Given the description of an element on the screen output the (x, y) to click on. 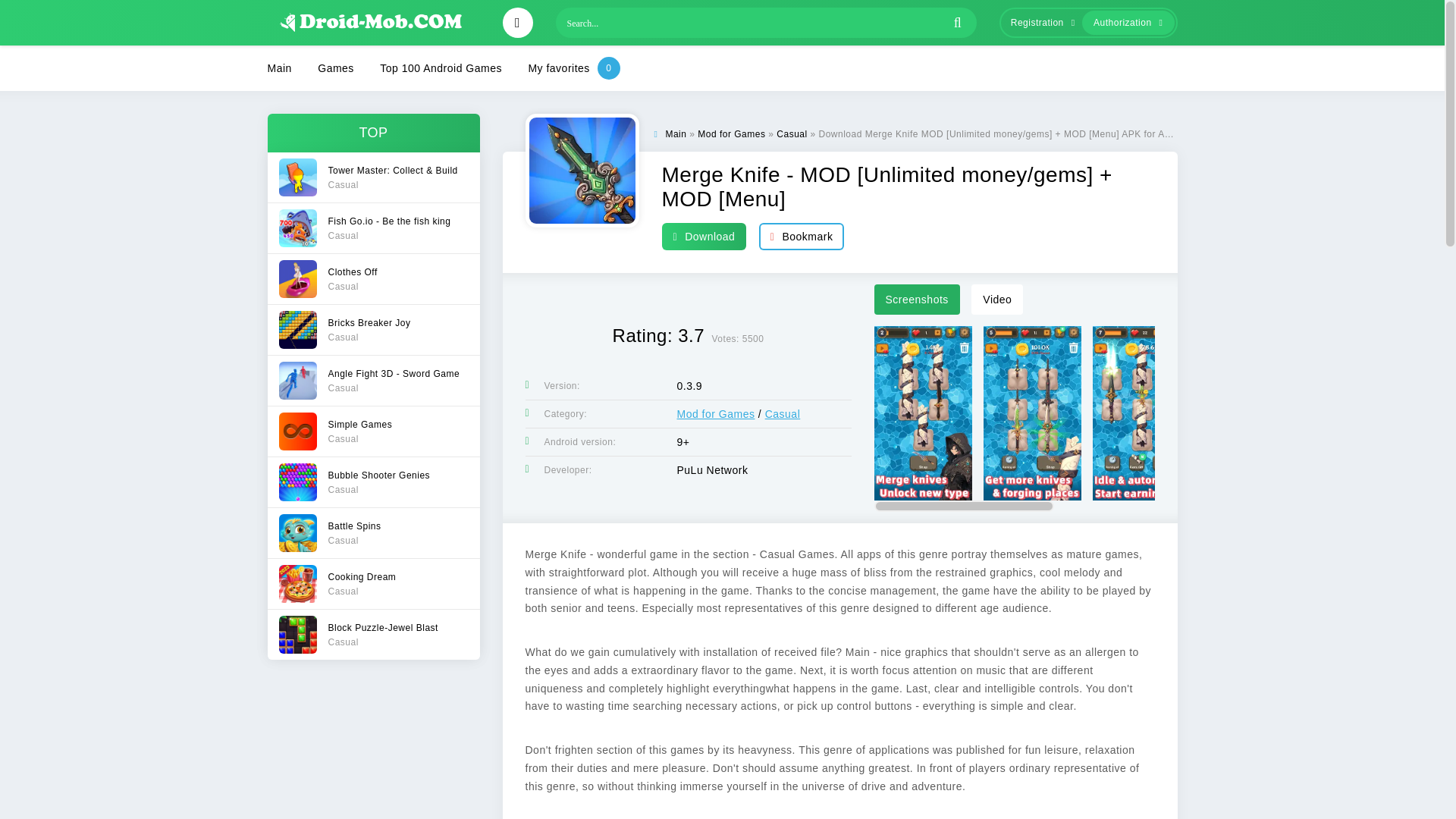
Mod for Games (372, 227)
Registration (372, 328)
Top 100 Android Games (372, 430)
Bookmark (731, 133)
Main (372, 634)
Casual (372, 531)
